Given the description of an element on the screen output the (x, y) to click on. 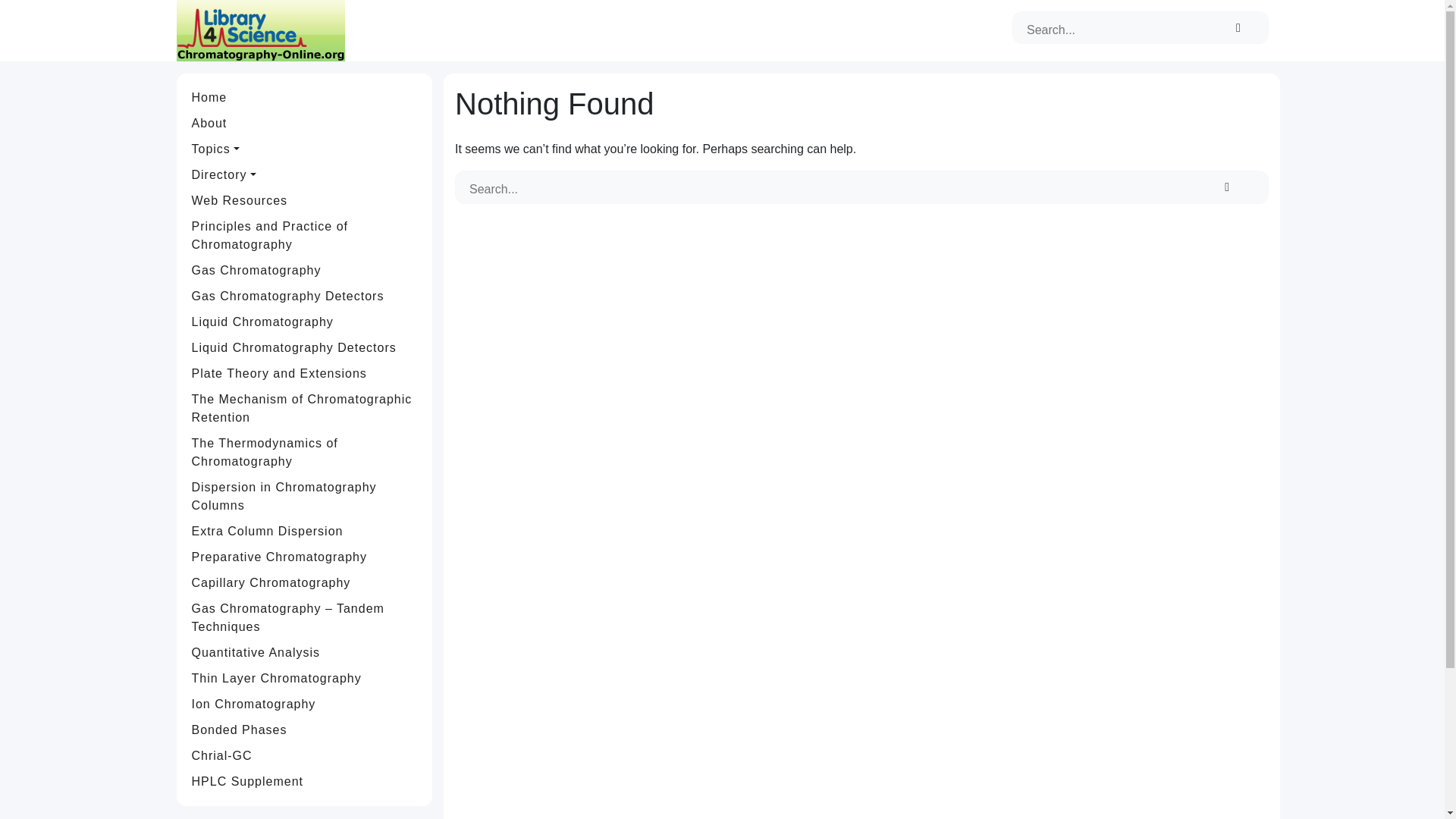
The Thermodynamics of Chromatography (304, 452)
Ion Chromatography (304, 704)
Home (304, 97)
Capillary Chromatography (304, 583)
Chrial-GC (304, 755)
Principles and Practice of Chromatography (304, 235)
Extra Column Dispersion (304, 531)
HPLC Supplement (304, 781)
Liquid Chromatography Detectors (304, 347)
Plate Theory and Extensions (304, 373)
Gas Chromatography (304, 270)
Dispersion in Chromatography Columns (304, 496)
Gas Chromatography Detectors (304, 296)
About (304, 123)
Liquid Chromatography (304, 321)
